Given the description of an element on the screen output the (x, y) to click on. 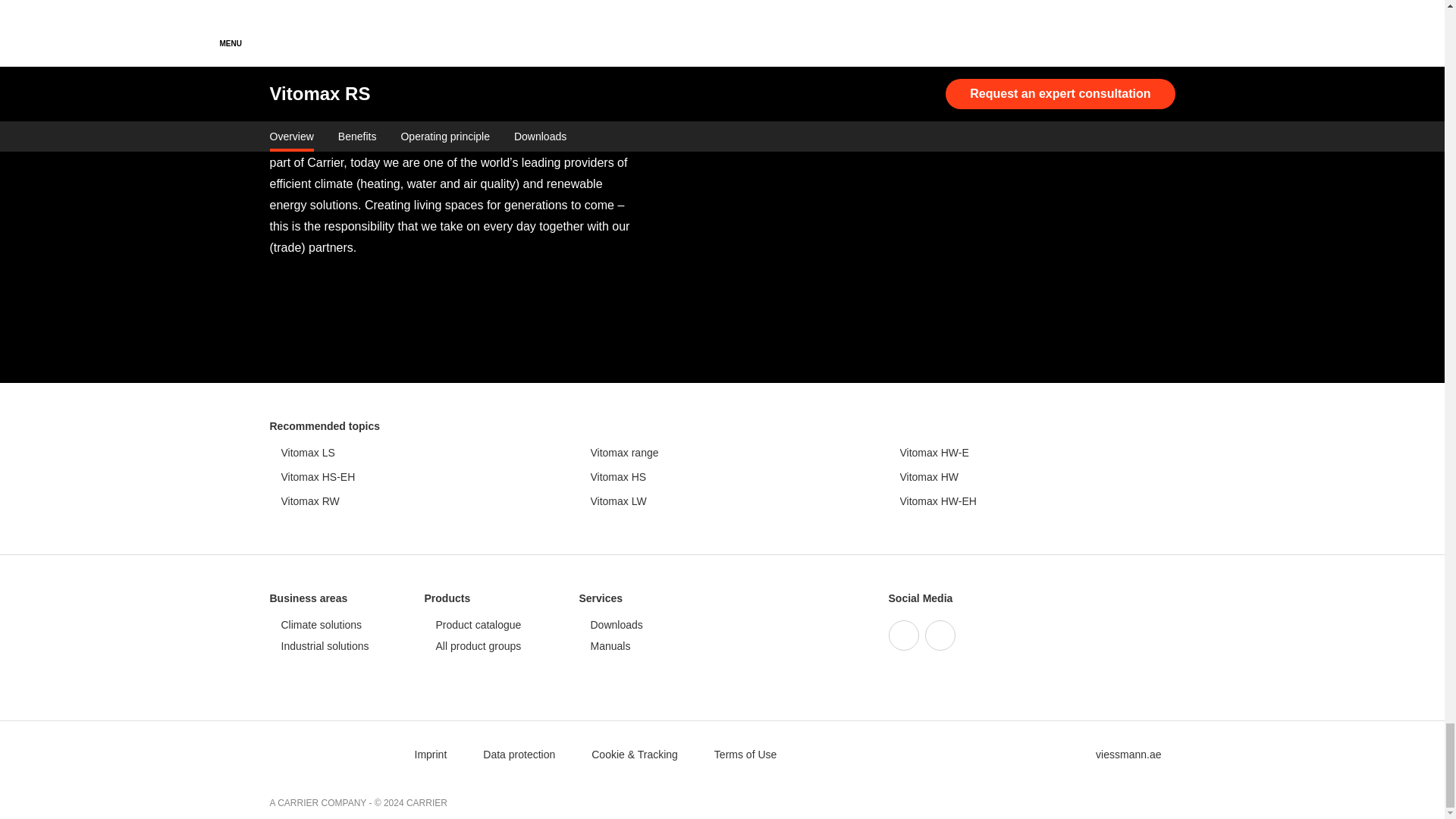
LinkedIn (939, 634)
Youtube (903, 634)
